Given the description of an element on the screen output the (x, y) to click on. 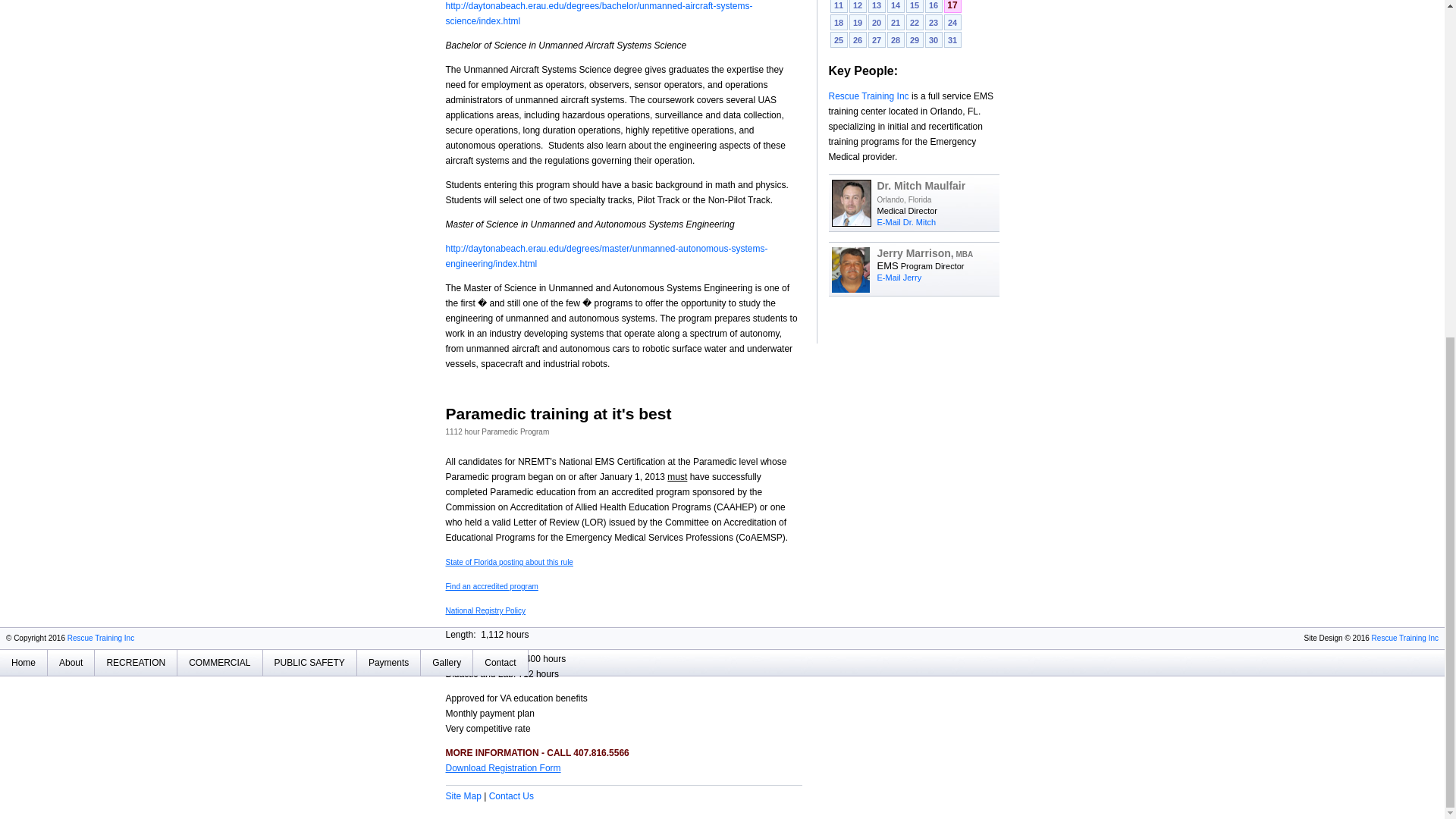
COMMERCIAL (219, 662)
PUBLIC SAFETY (309, 662)
State of Florida posting about this rule (509, 561)
About (71, 662)
Contact (500, 662)
Contact Us (511, 796)
National Registry Policy (485, 610)
RECREATION (135, 662)
Download Registration Form (502, 767)
Rescue Training Inc (99, 637)
